Given the description of an element on the screen output the (x, y) to click on. 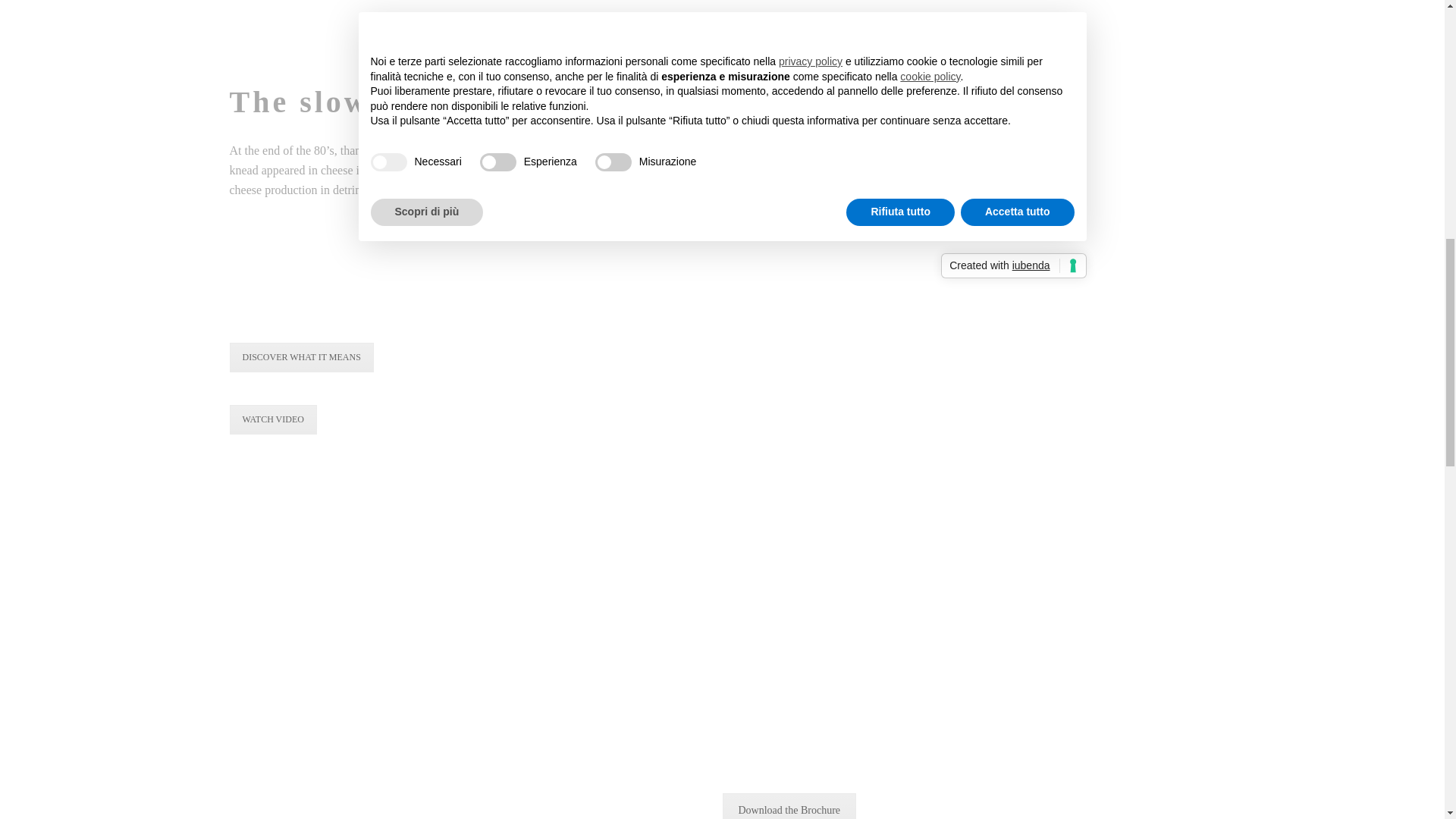
Download the Brochure (789, 806)
DISCOVER WHAT IT MEANS (300, 357)
Perrella-caseificio-storico-1958 (304, 289)
WATCH VIDEO (271, 419)
